Given the description of an element on the screen output the (x, y) to click on. 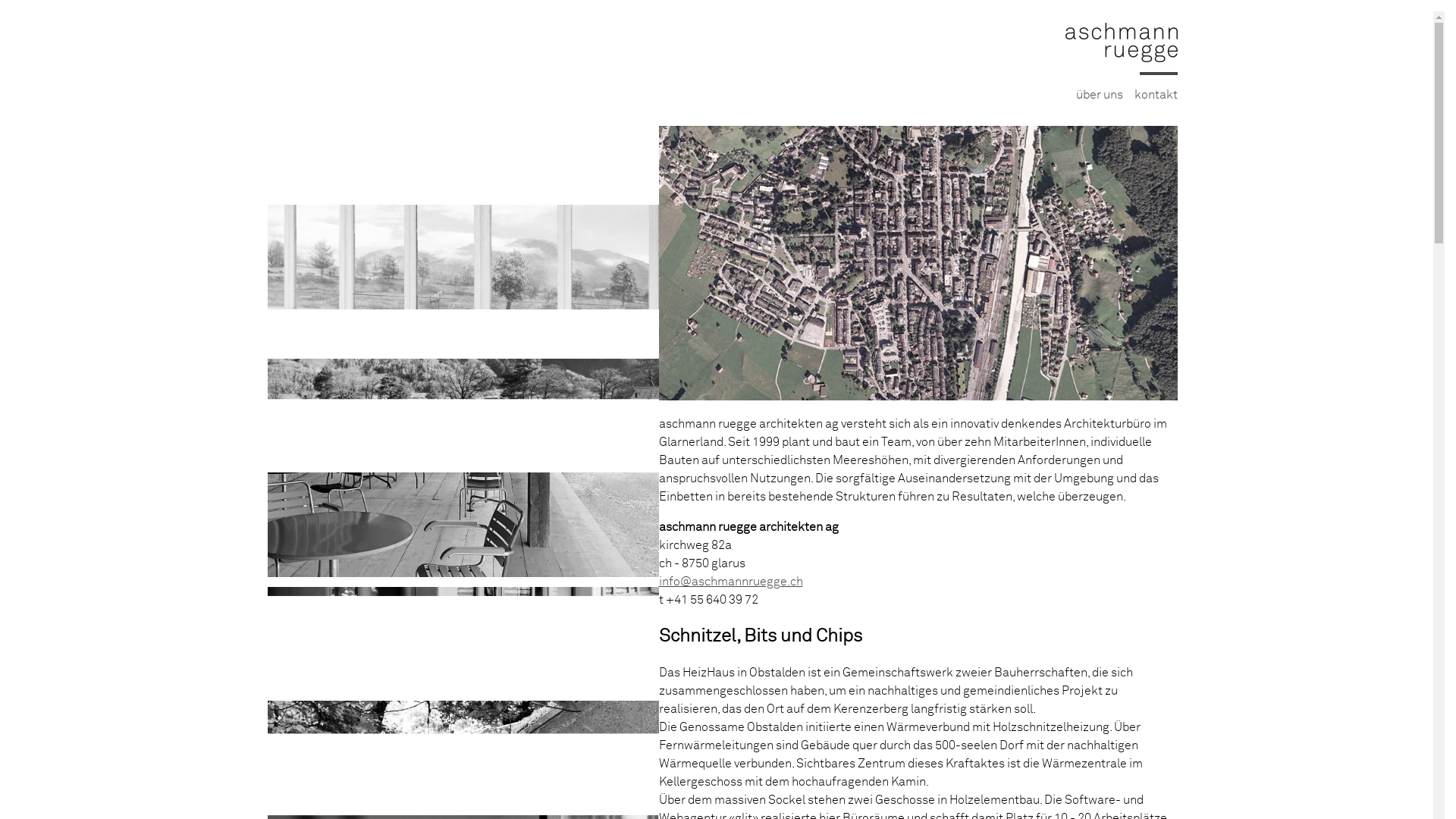
objekt berghotel mettmen  Element type: hover (462, 103)
kontakt Element type: text (1155, 94)
objekt atelier aschmann ruegge Element type: hover (462, 639)
objekt badehaus Element type: hover (462, 17)
objekt waisenhausstrasse glarus Element type: hover (462, 325)
objekt heizhaus Element type: hover (462, 191)
objekt haus im park Element type: hover (462, 171)
info@aschmannruegge.ch Element type: text (730, 581)
objekt geissgasse schwanden Element type: hover (462, 257)
objekt heizhaus Element type: hover (462, 37)
Startseite Element type: hover (1120, 59)
